Given the description of an element on the screen output the (x, y) to click on. 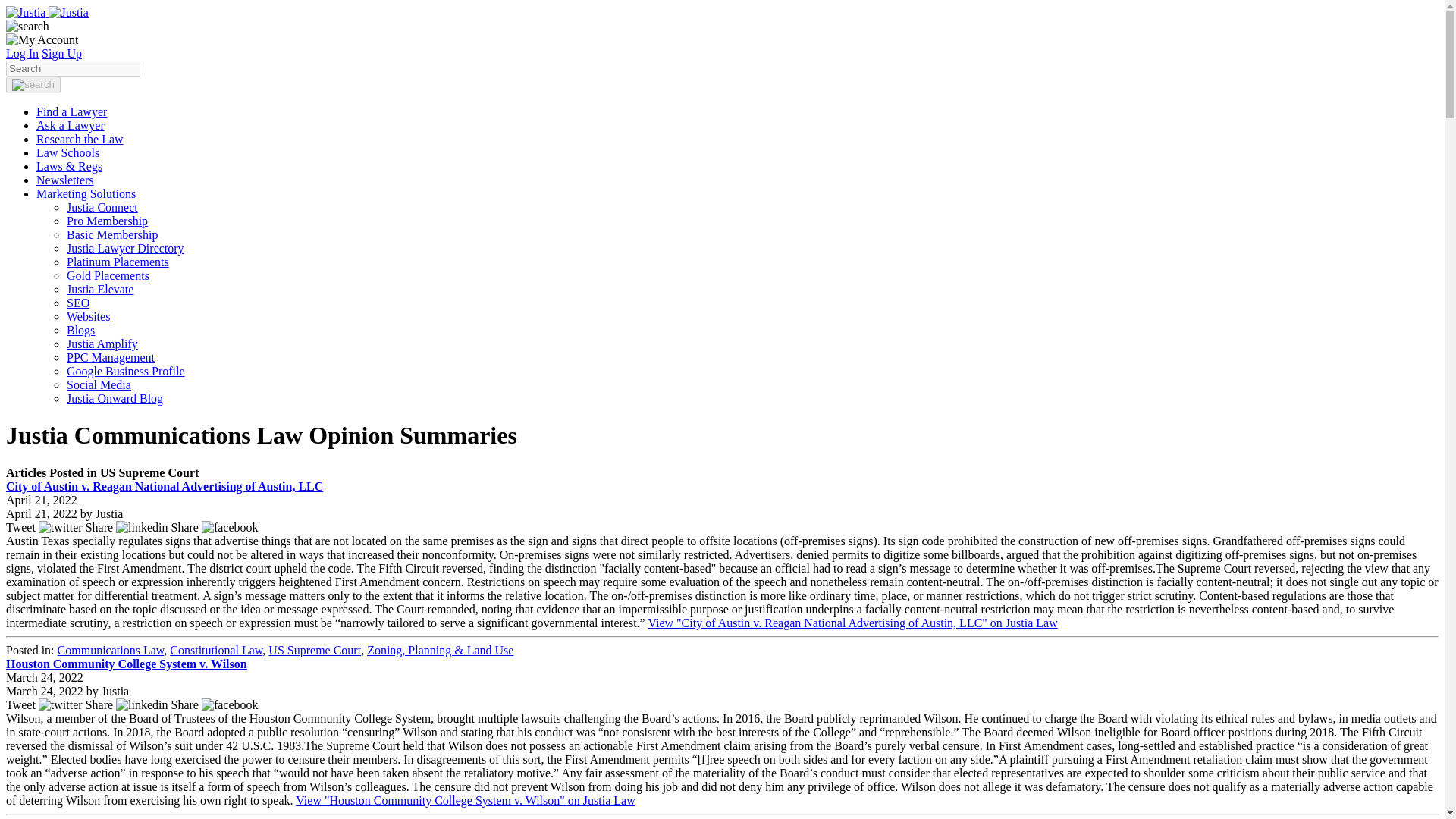
Justia Communications Law Opinion Summaries (46, 11)
Permalink to Houston Community College System v. Wilson (126, 663)
Marketing Solutions (85, 193)
Websites (88, 316)
Log In (22, 52)
Sign Up (61, 52)
Communications Law (111, 649)
Share (128, 526)
Newsletters (65, 179)
Houston Community College System v. Wilson (126, 663)
PPC Management (110, 357)
Justia Lawyer Directory (125, 247)
Pro Membership (107, 220)
SEO (77, 302)
Blogs (80, 329)
